Given the description of an element on the screen output the (x, y) to click on. 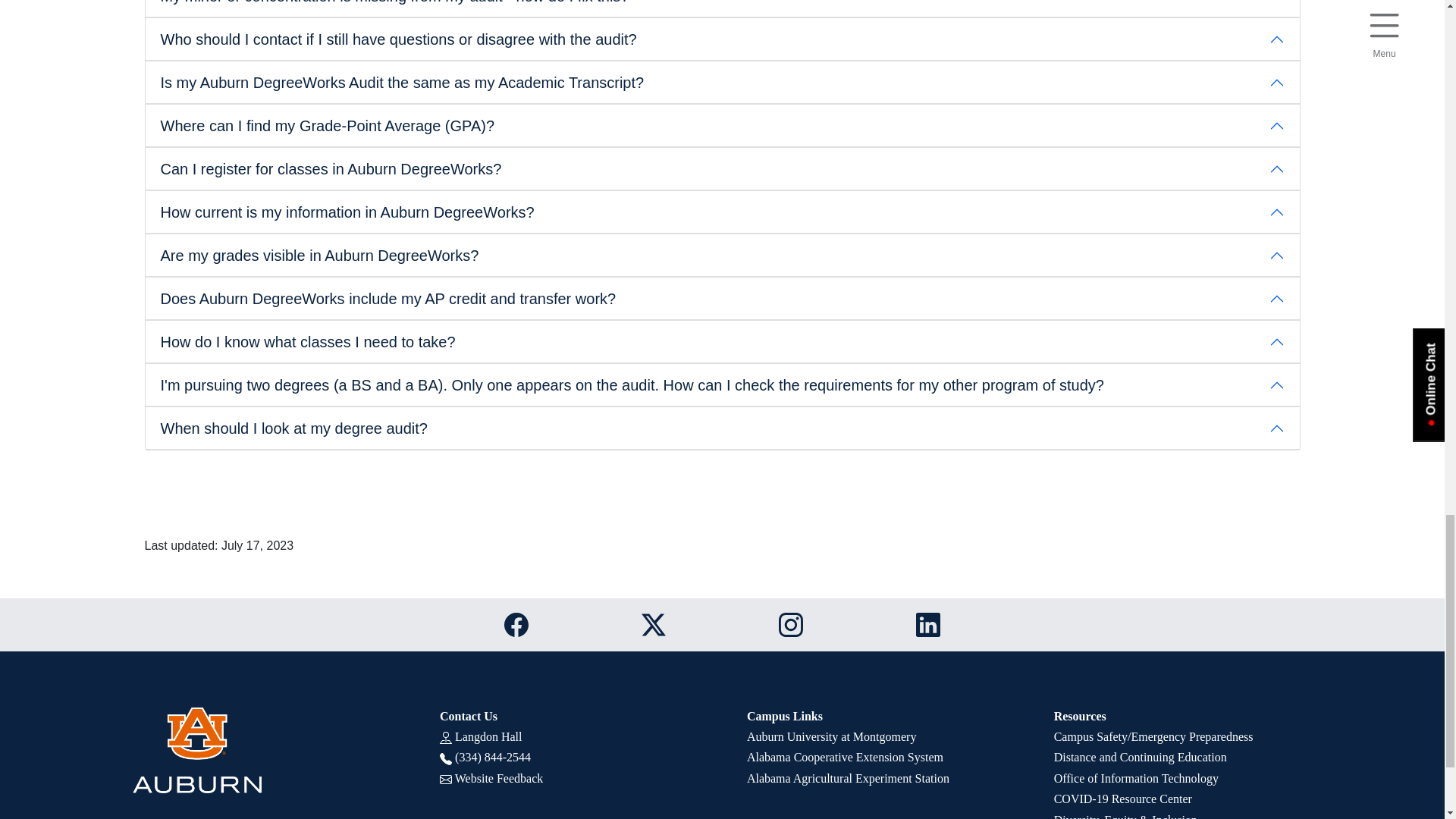
Envelope Icon (445, 779)
Telephone icon (445, 758)
Twitter logo (653, 624)
Map icon (445, 737)
Facebook logo (515, 624)
Instagram logo (790, 624)
LinkedIn logo (927, 624)
